Given the description of an element on the screen output the (x, y) to click on. 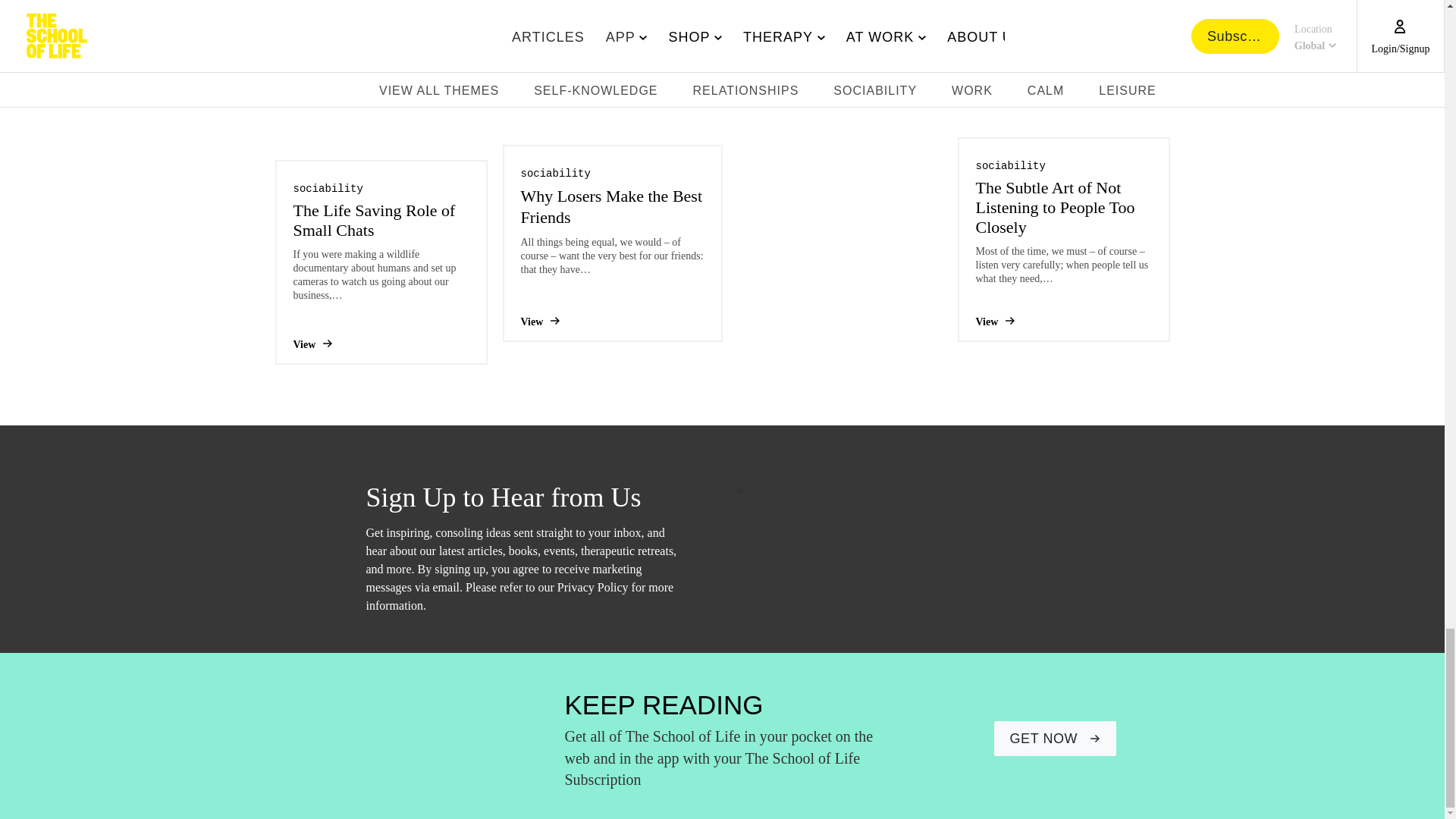
Follow us on X (1104, 739)
Follow us on Instagram (1075, 739)
Follow us on TikTok (1161, 739)
Follow us on LinkedIn (1132, 739)
Follow us on Facebook (1011, 739)
Subscribe us on YouTube (1043, 739)
